Given the description of an element on the screen output the (x, y) to click on. 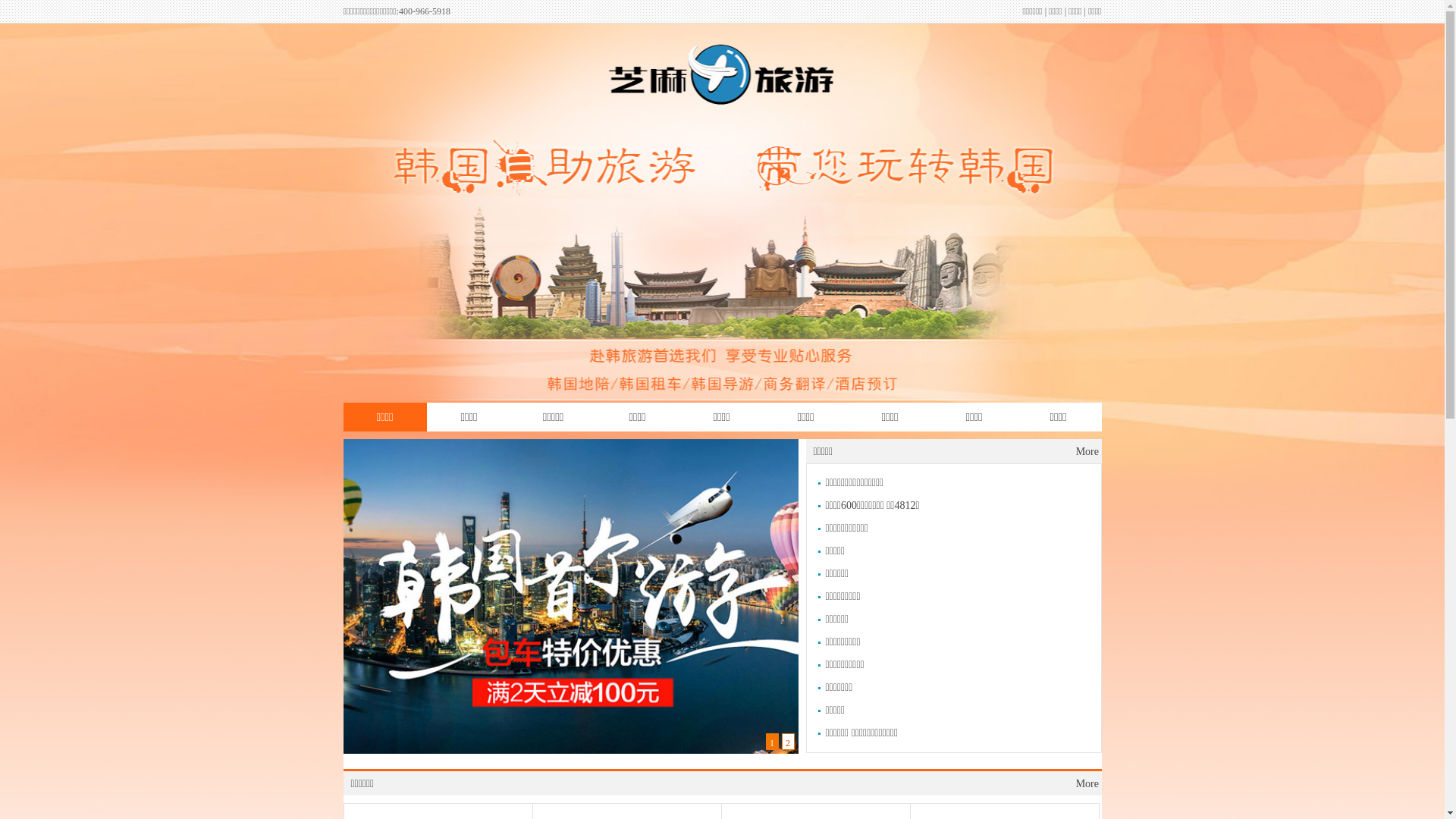
More Element type: text (1087, 451)
More Element type: text (1087, 783)
